Given the description of an element on the screen output the (x, y) to click on. 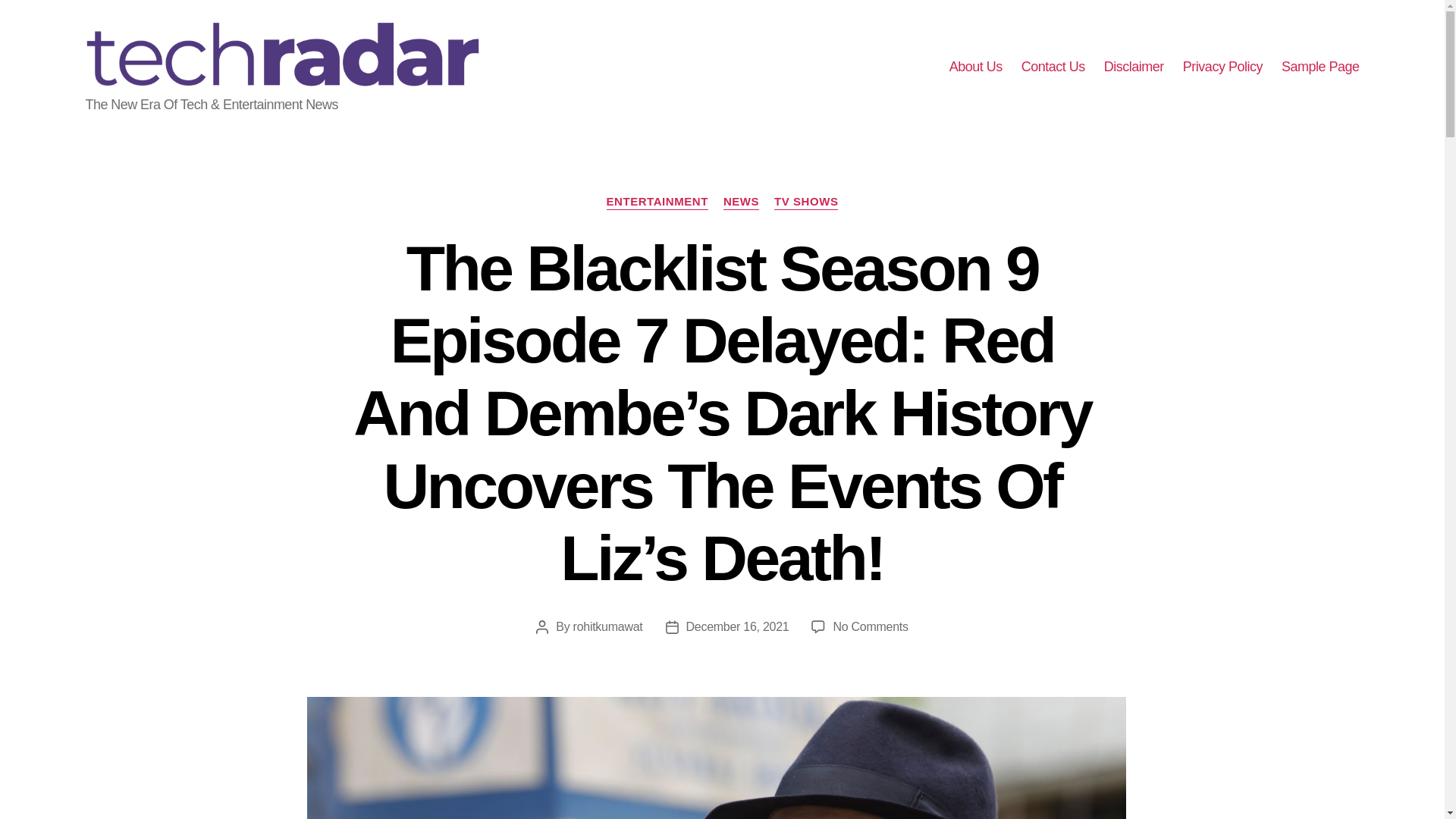
rohitkumawat (608, 626)
Disclaimer (1133, 67)
About Us (976, 67)
TV SHOWS (806, 201)
December 16, 2021 (737, 626)
NEWS (740, 201)
Sample Page (1320, 67)
Contact Us (1053, 67)
Privacy Policy (1222, 67)
ENTERTAINMENT (657, 201)
